Given the description of an element on the screen output the (x, y) to click on. 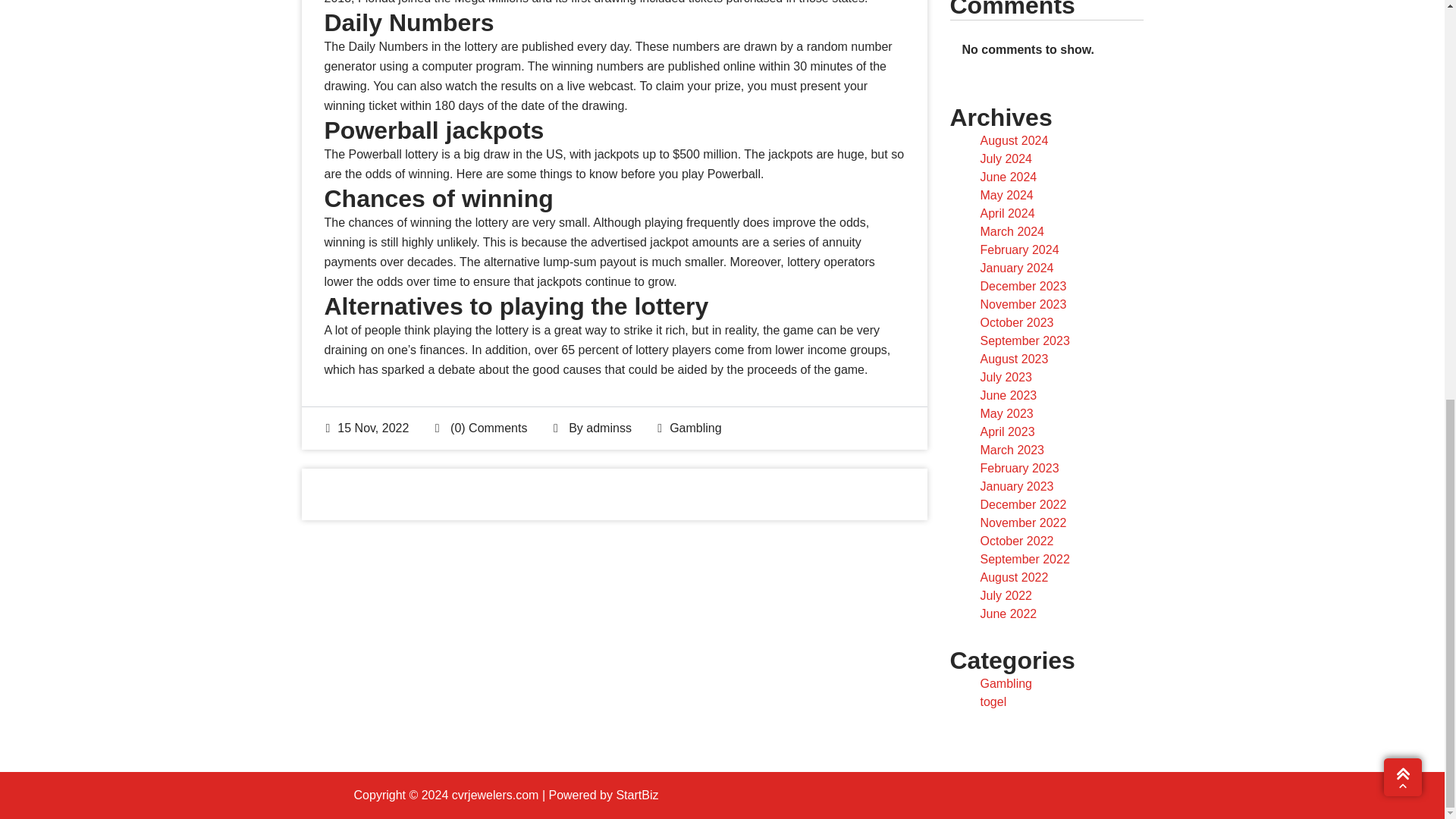
May 2023 (1005, 413)
September 2023 (1023, 340)
November 2022 (1022, 522)
January 2024 (1015, 267)
March 2024 (1011, 231)
adminss (608, 427)
April 2024 (1006, 213)
June 2024 (1007, 176)
October 2023 (1015, 322)
April 2023 (1006, 431)
July 2024 (1005, 158)
November 2023 (1022, 304)
August 2024 (1013, 140)
December 2023 (1022, 286)
August 2023 (1013, 358)
